Given the description of an element on the screen output the (x, y) to click on. 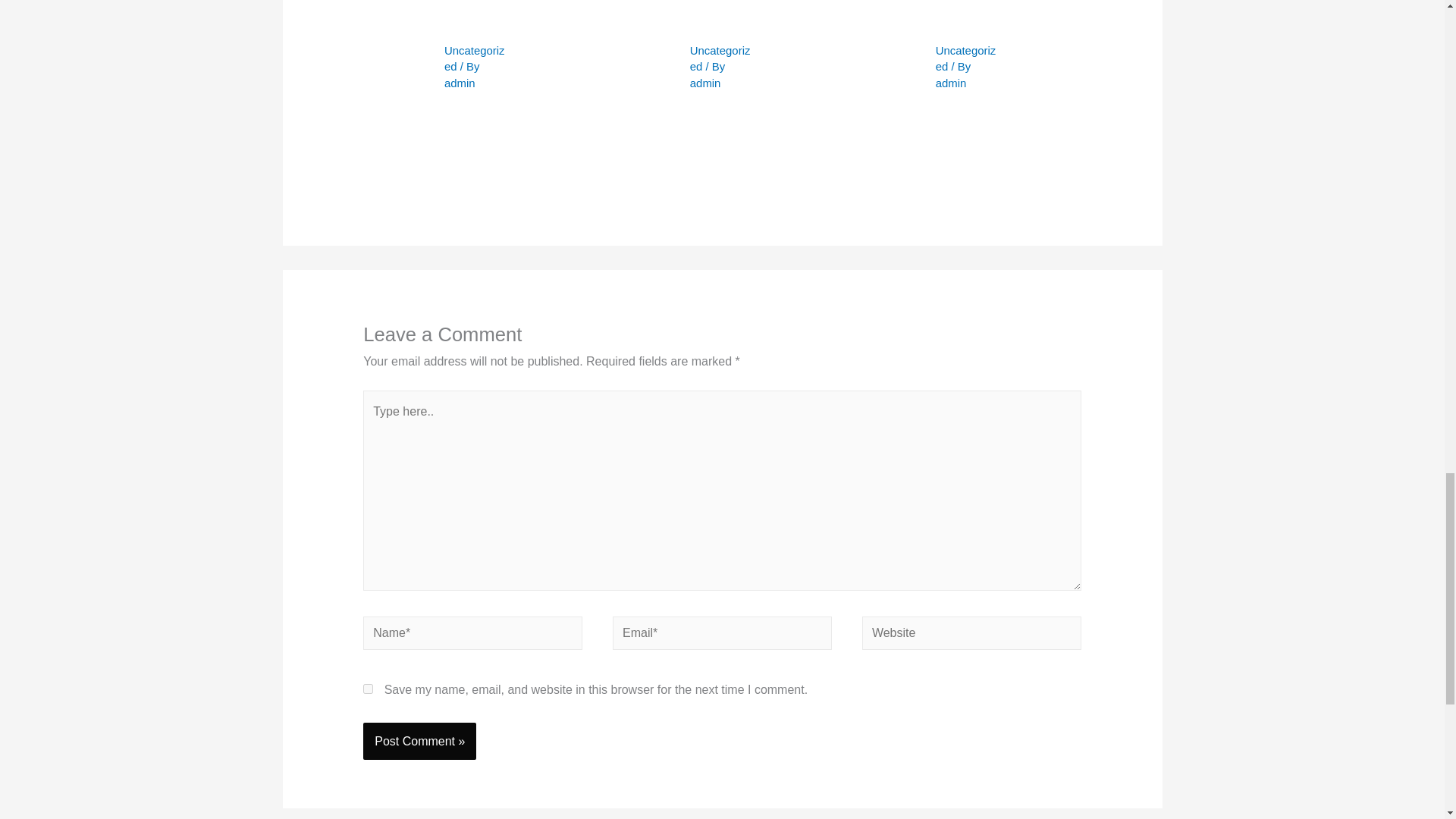
Uncategorized (720, 58)
View all posts by admin (460, 82)
admin (705, 82)
yes (367, 688)
View all posts by admin (705, 82)
View all posts by admin (951, 82)
admin (951, 82)
Uncategorized (965, 58)
Uncategorized (474, 58)
admin (460, 82)
